Given the description of an element on the screen output the (x, y) to click on. 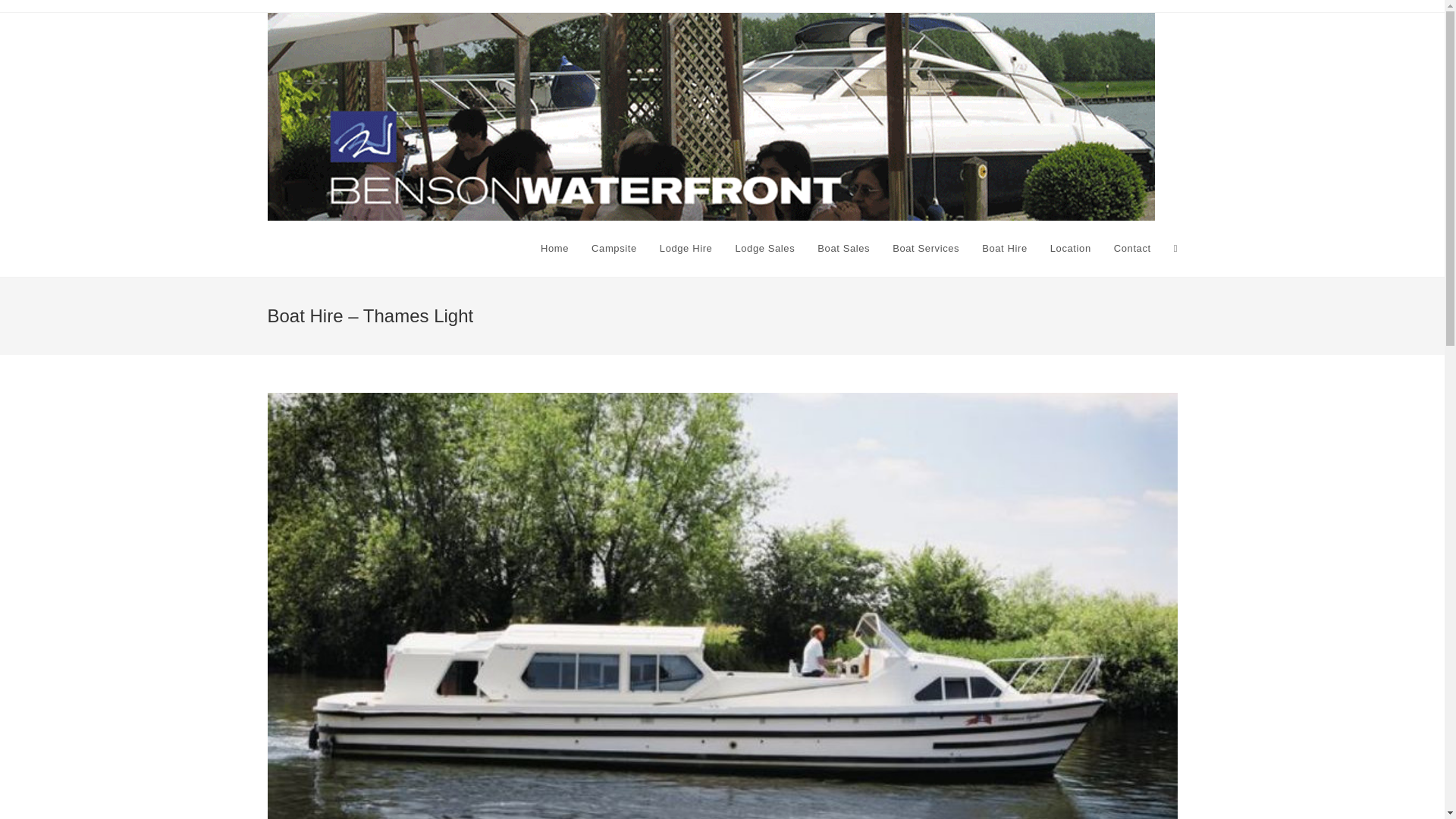
Boat Services (925, 248)
Home (554, 248)
Campsite (613, 248)
Boat Sales (843, 248)
Lodge Sales (764, 248)
Contact (1131, 248)
Location (1070, 248)
Lodge Hire (685, 248)
Boat Hire (1005, 248)
